Given the description of an element on the screen output the (x, y) to click on. 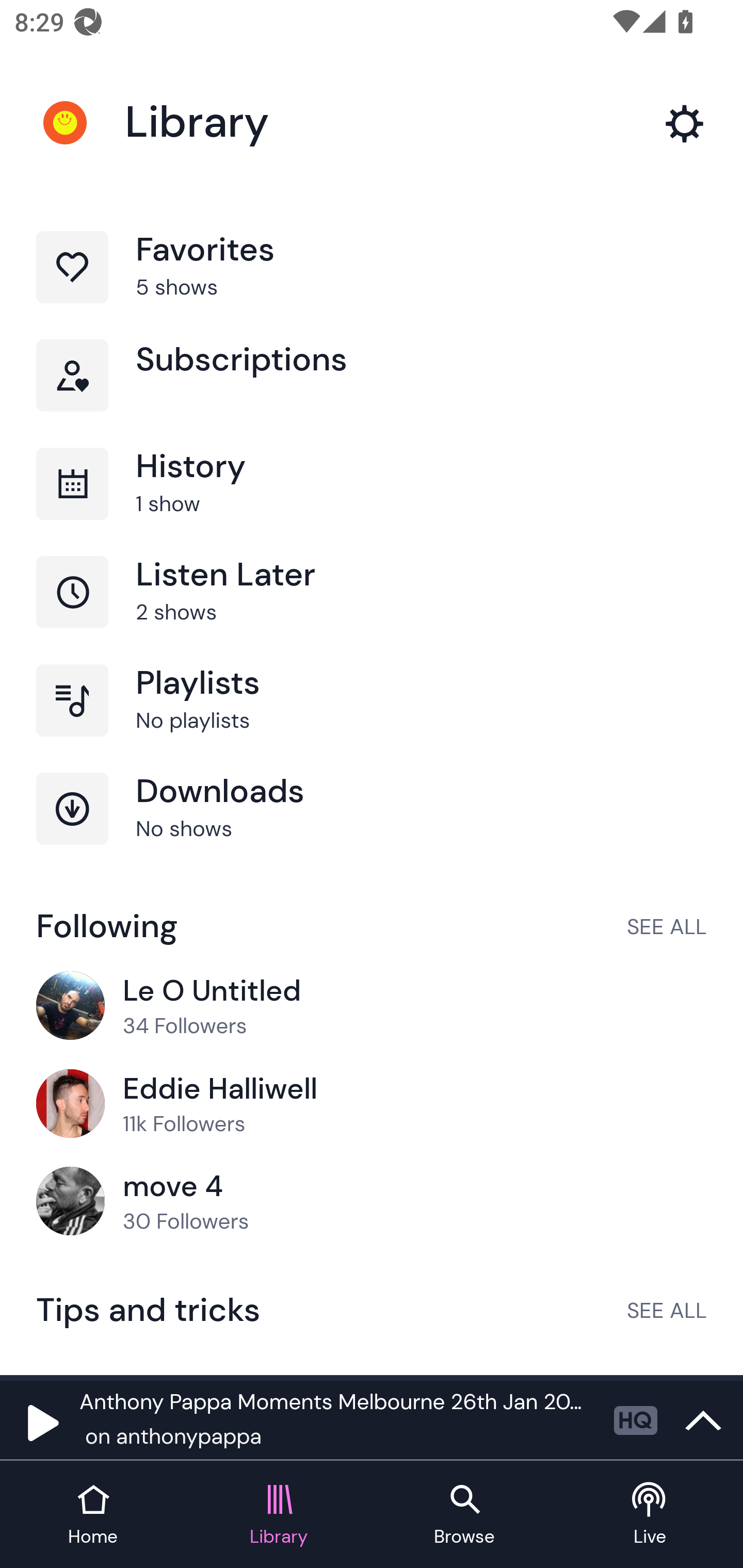
Favorites, 5 shows Favorites 5 shows (371, 284)
Subscriptions (371, 393)
History, 1 show History 1 show (371, 502)
Listen Later, 2 shows Listen Later 2 shows (371, 610)
Playlists, No playlists Playlists No playlists (371, 718)
Downloads, No shows Downloads No shows (371, 827)
SEE ALL (666, 926)
move 4, 30 Followers move 4 30 Followers (371, 1201)
SEE ALL (666, 1309)
Home tab Home (92, 1515)
Library tab Library (278, 1515)
Browse tab Browse (464, 1515)
Live tab Live (650, 1515)
